Given the description of an element on the screen output the (x, y) to click on. 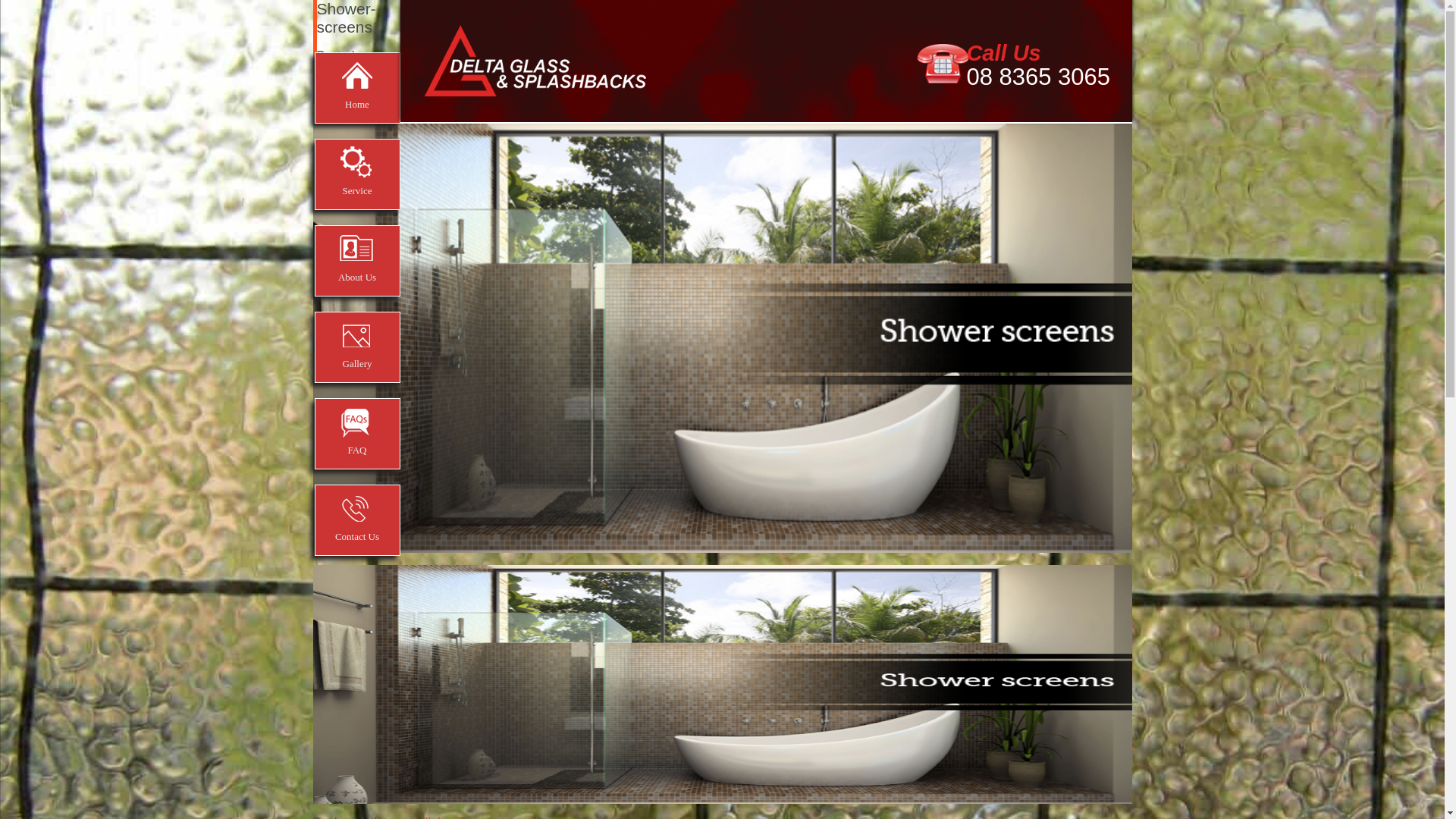
Service Element type: text (356, 174)
Glass Adelaide Element type: hover (534, 66)
Home Element type: text (356, 87)
About Us Element type: text (356, 260)
Contact Us Element type: text (356, 519)
December 26, 2013 Element type: text (354, 75)
FAQ Element type: text (356, 433)
Gallery Element type: text (356, 346)
winkweb Element type: text (339, 96)
